Given the description of an element on the screen output the (x, y) to click on. 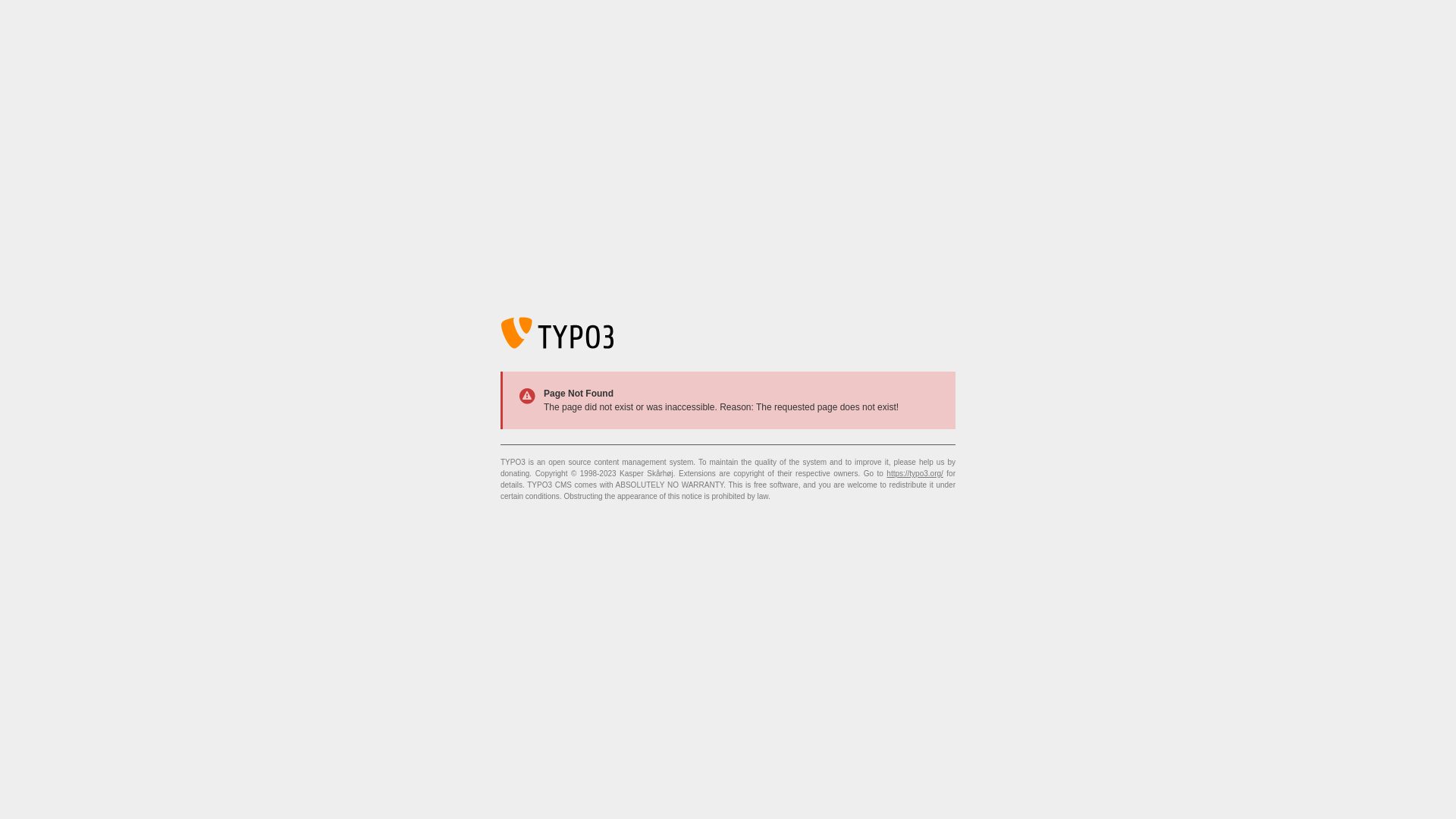
https://typo3.org/ Element type: text (914, 473)
